Given the description of an element on the screen output the (x, y) to click on. 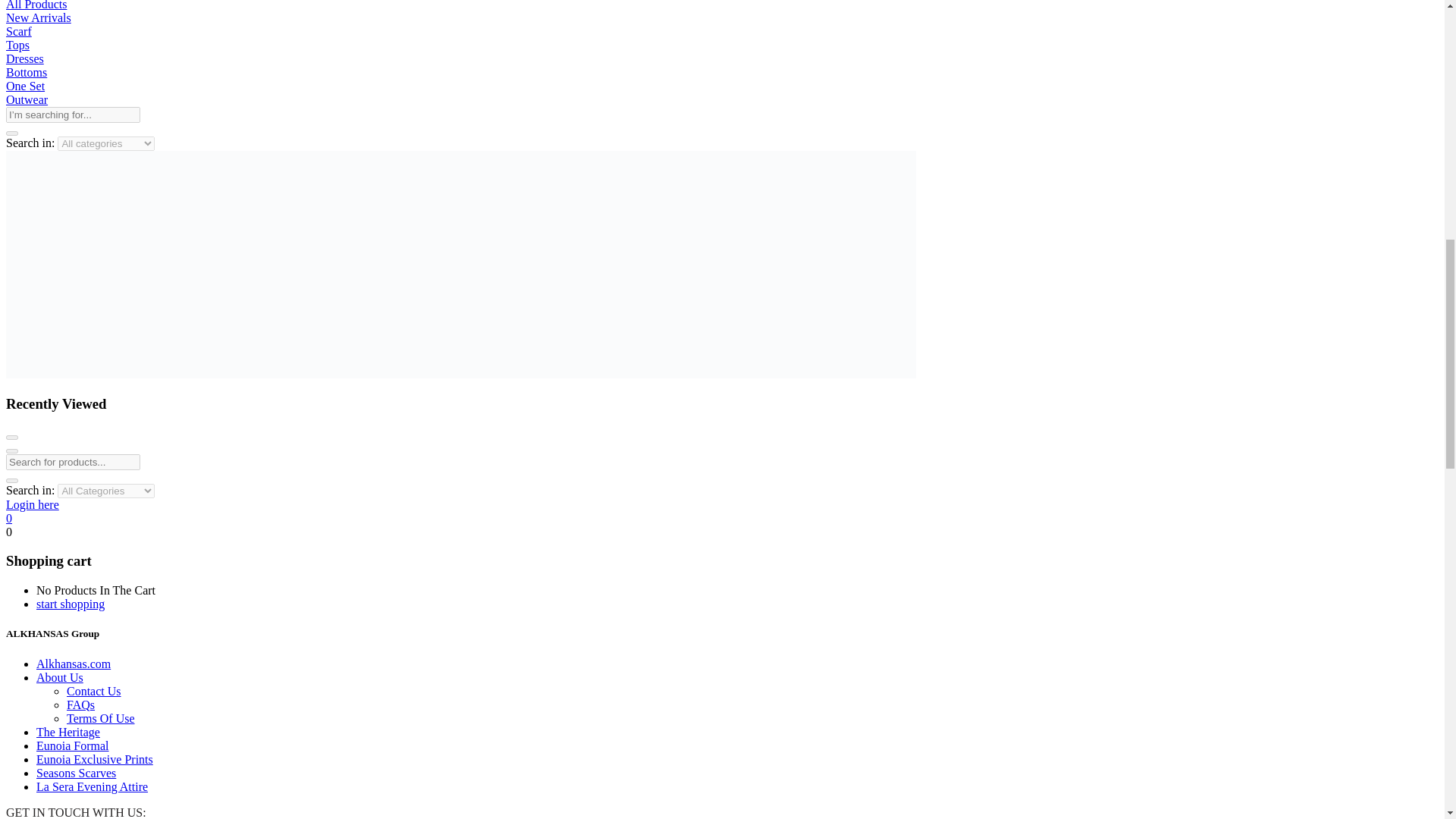
New Arrivals (38, 17)
Tops (17, 44)
All Products (35, 5)
Scarf (18, 31)
